Given the description of an element on the screen output the (x, y) to click on. 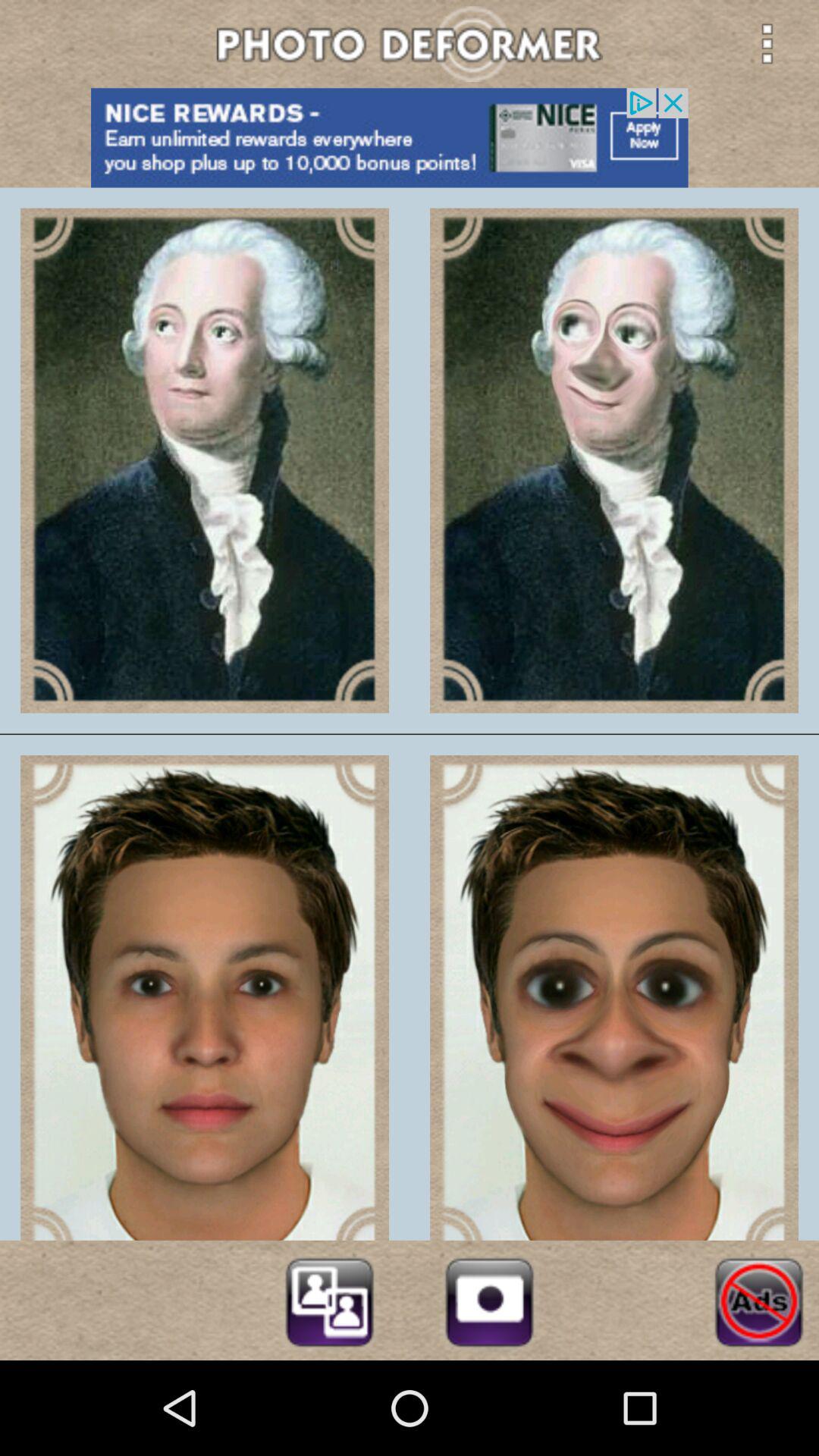
open options (767, 43)
